Given the description of an element on the screen output the (x, y) to click on. 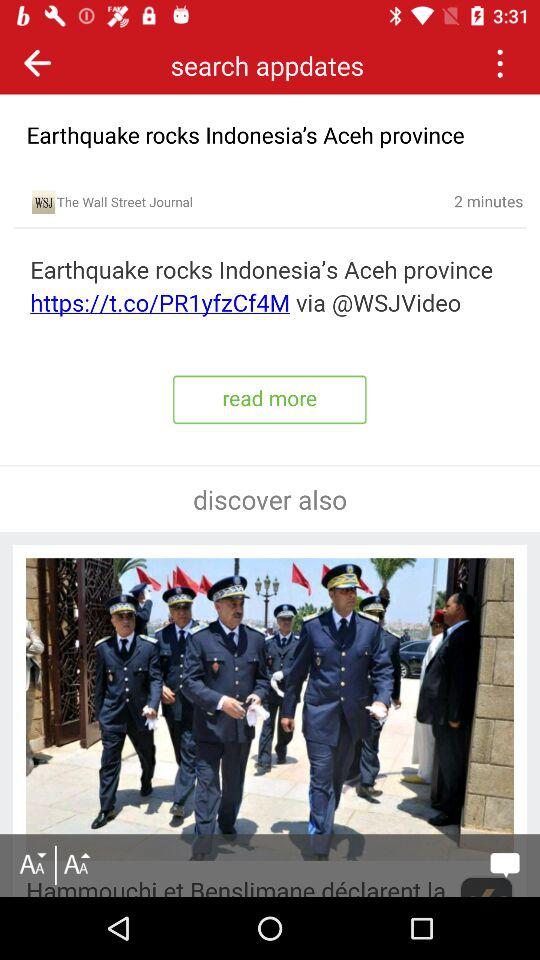
back face (37, 62)
